Given the description of an element on the screen output the (x, y) to click on. 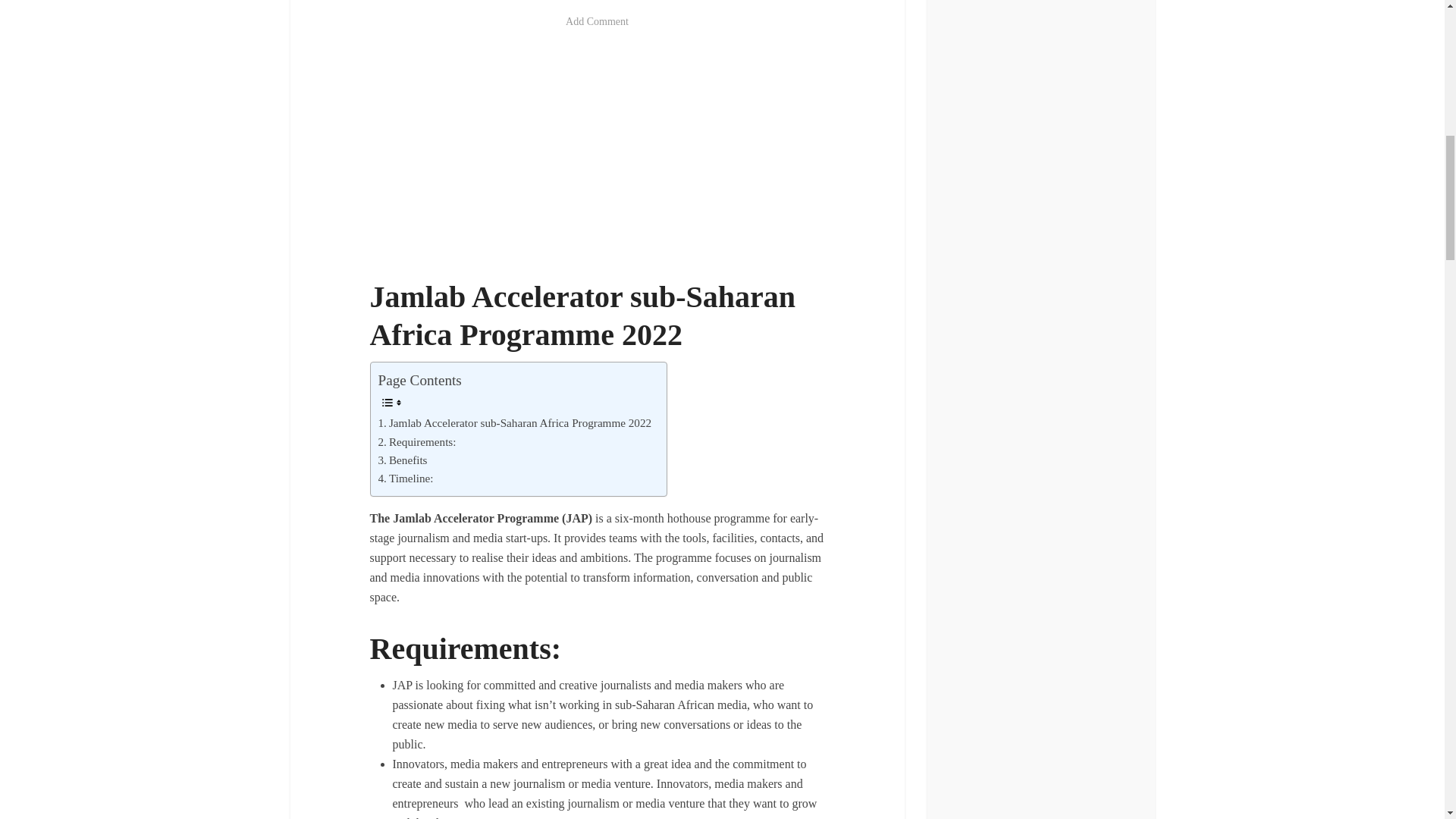
Requirements: (416, 442)
Jamlab Accelerator sub-Saharan Africa Programme 2022 (513, 423)
Requirements: (416, 442)
Benefits (401, 460)
Jamlab Accelerator sub-Saharan Africa Programme 2022 (513, 423)
Add Comment (597, 21)
Timeline: (404, 478)
Timeline: (404, 478)
Benefits (401, 460)
